Given the description of an element on the screen output the (x, y) to click on. 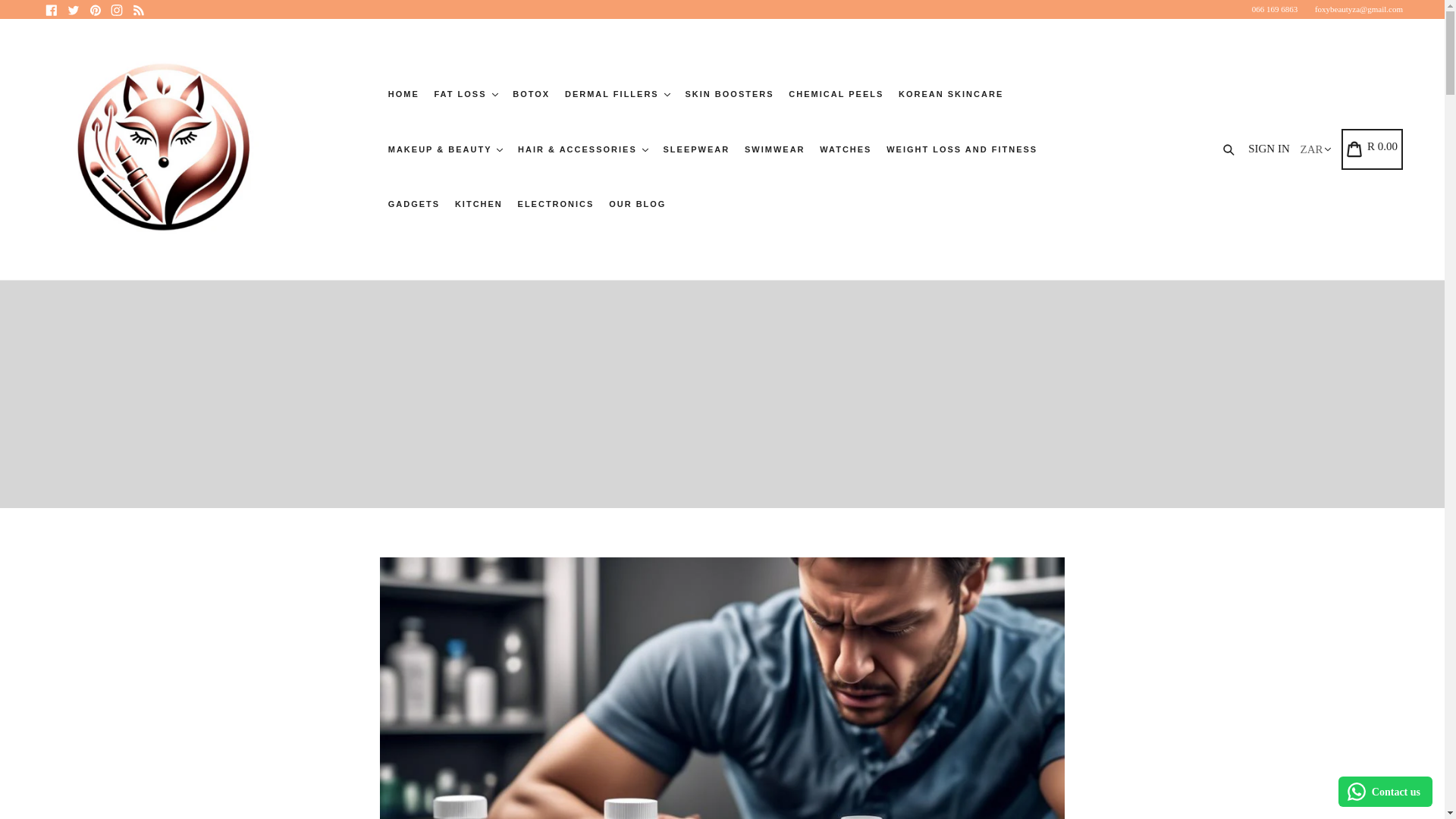
Foxy Beauty on Pinterest (94, 9)
Foxy Beauty on Twitter (73, 9)
Foxy Beauty on Instagram (116, 9)
Foxy Beauty on Facebook (51, 9)
